Given the description of an element on the screen output the (x, y) to click on. 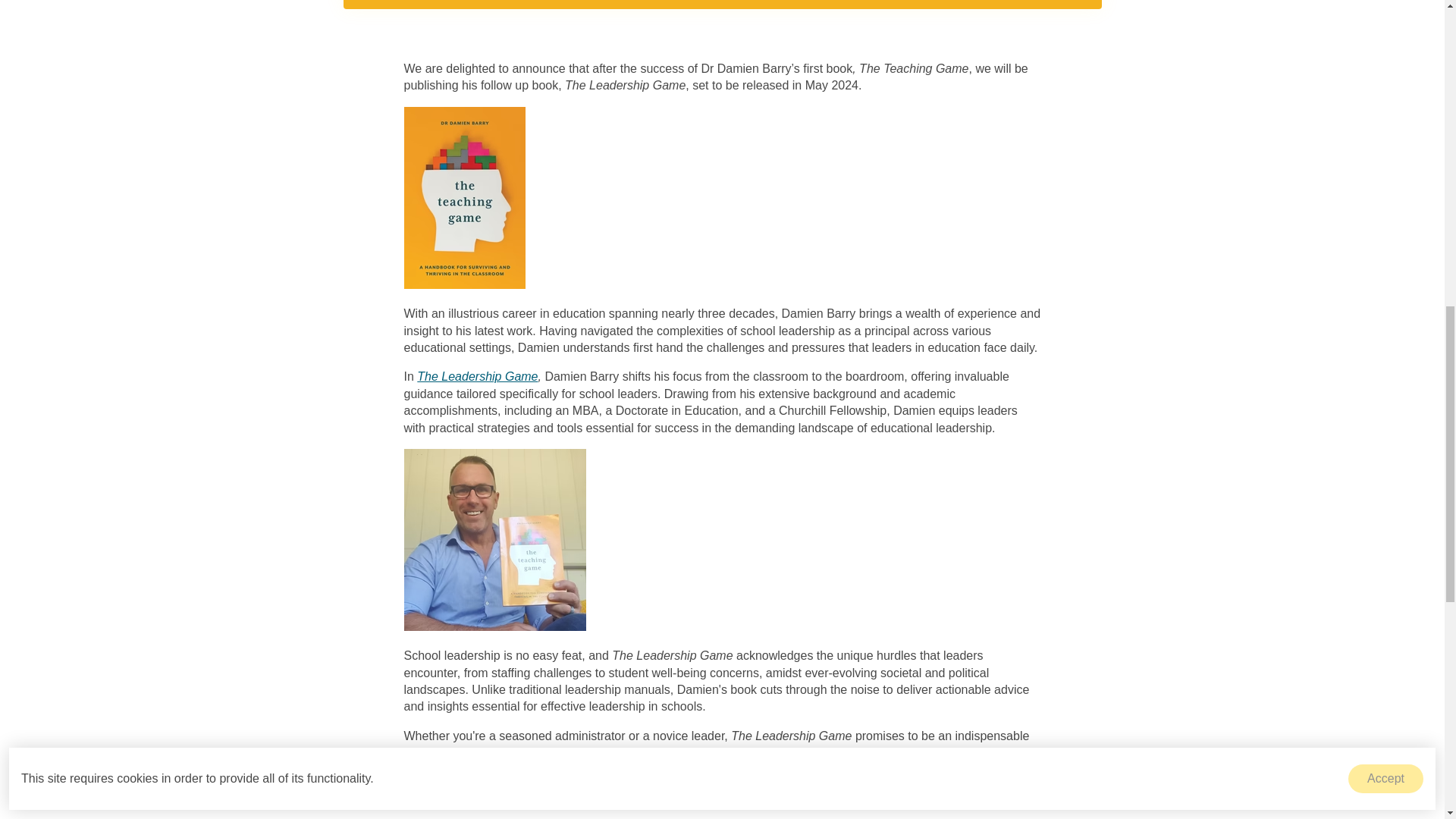
The Leadership Game (476, 376)
The Leadership Game (1009, 781)
